Given the description of an element on the screen output the (x, y) to click on. 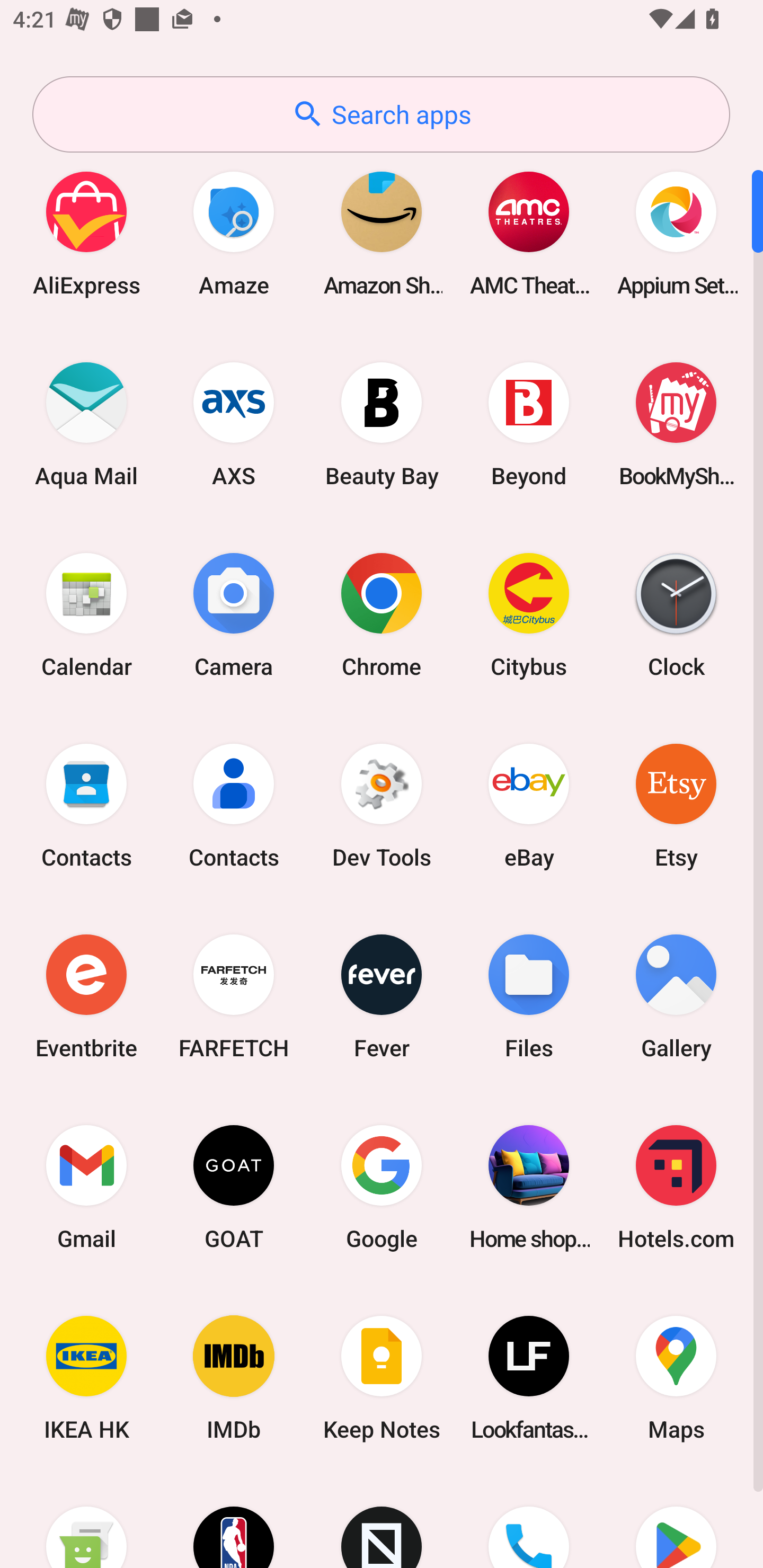
  Search apps (381, 114)
AliExpress (86, 233)
Amaze (233, 233)
Amazon Shopping (381, 233)
AMC Theatres (528, 233)
Appium Settings (676, 233)
Aqua Mail (86, 424)
AXS (233, 424)
Beauty Bay (381, 424)
Beyond (528, 424)
BookMyShow (676, 424)
Calendar (86, 614)
Camera (233, 614)
Chrome (381, 614)
Citybus (528, 614)
Clock (676, 614)
Contacts (86, 805)
Contacts (233, 805)
Dev Tools (381, 805)
eBay (528, 805)
Etsy (676, 805)
Eventbrite (86, 996)
FARFETCH (233, 996)
Fever (381, 996)
Files (528, 996)
Gallery (676, 996)
Gmail (86, 1186)
GOAT (233, 1186)
Google (381, 1186)
Home shopping (528, 1186)
Hotels.com (676, 1186)
IKEA HK (86, 1377)
IMDb (233, 1377)
Keep Notes (381, 1377)
Lookfantastic (528, 1377)
Maps (676, 1377)
